Given the description of an element on the screen output the (x, y) to click on. 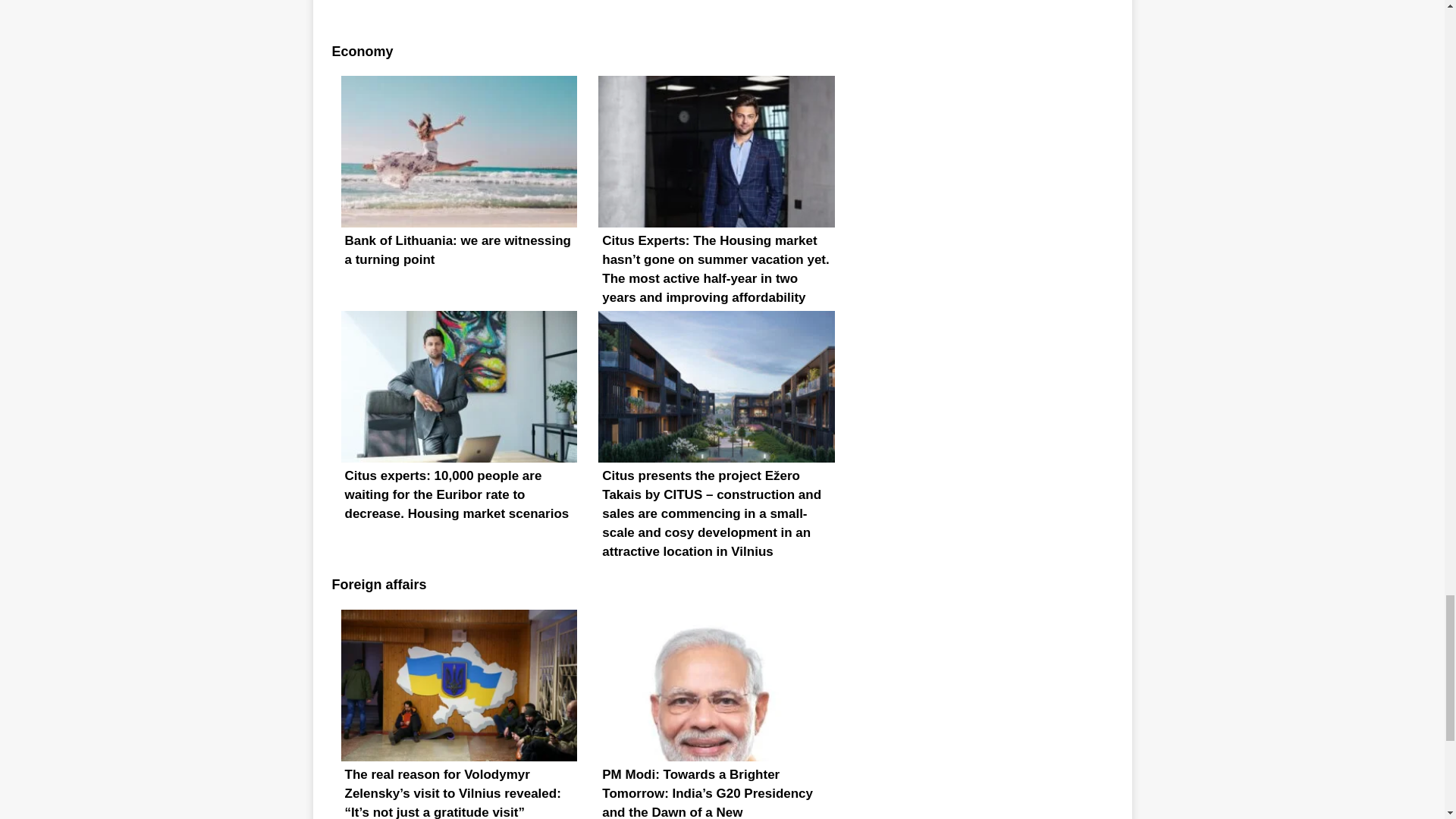
Jan Zwartendijk: an unsung hero recognized (716, 6)
